Given the description of an element on the screen output the (x, y) to click on. 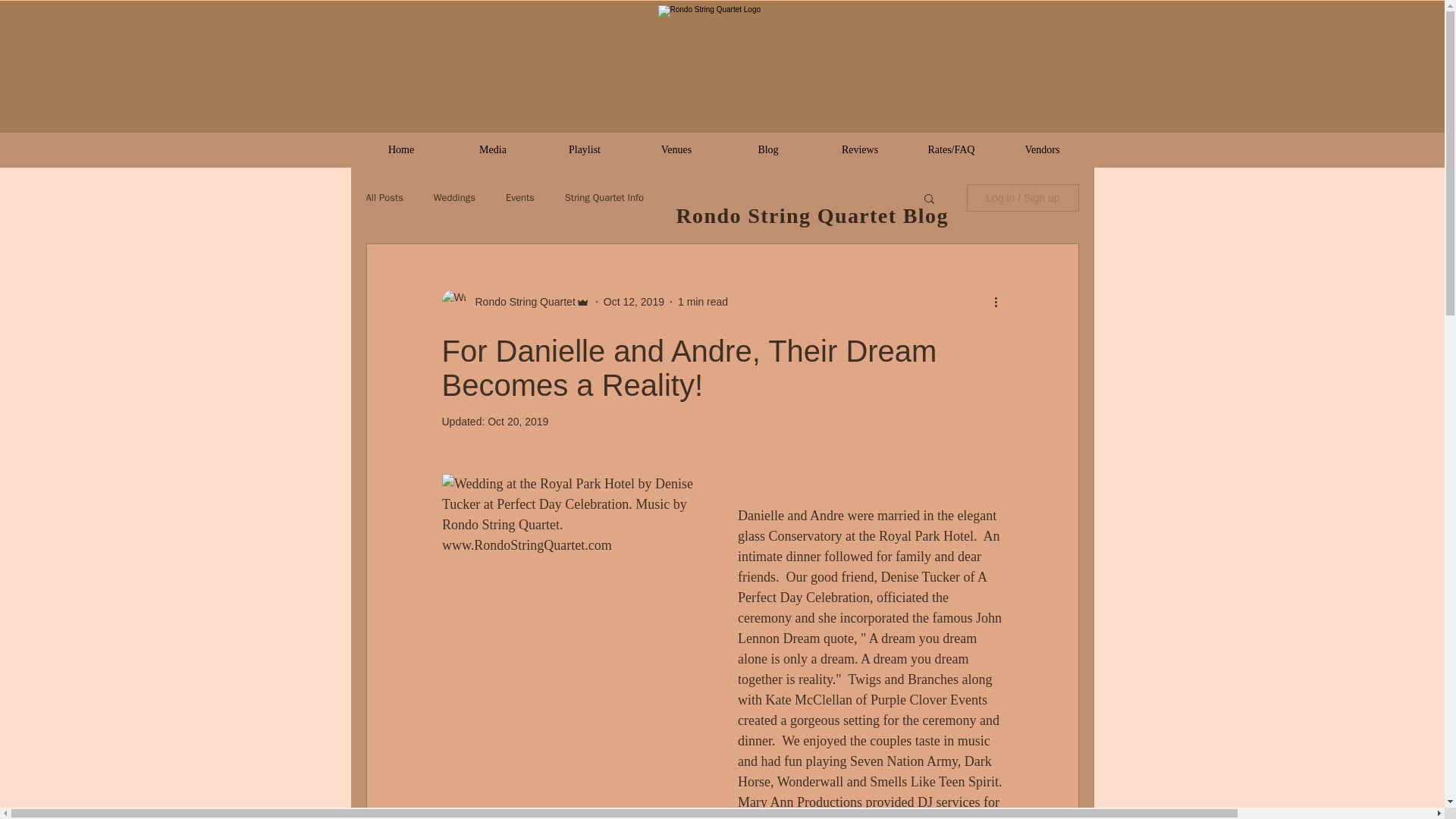
Reviews (859, 149)
Blog (767, 149)
Media (492, 149)
Home (400, 149)
Oct 20, 2019 (517, 421)
All Posts (384, 197)
String Quartet Info (603, 197)
Playlist (584, 149)
Weddings (454, 197)
Vendors (1041, 149)
Events (519, 197)
Oct 12, 2019 (633, 301)
1 min read (703, 301)
Venues (676, 149)
Rondo String Quartet (520, 302)
